Given the description of an element on the screen output the (x, y) to click on. 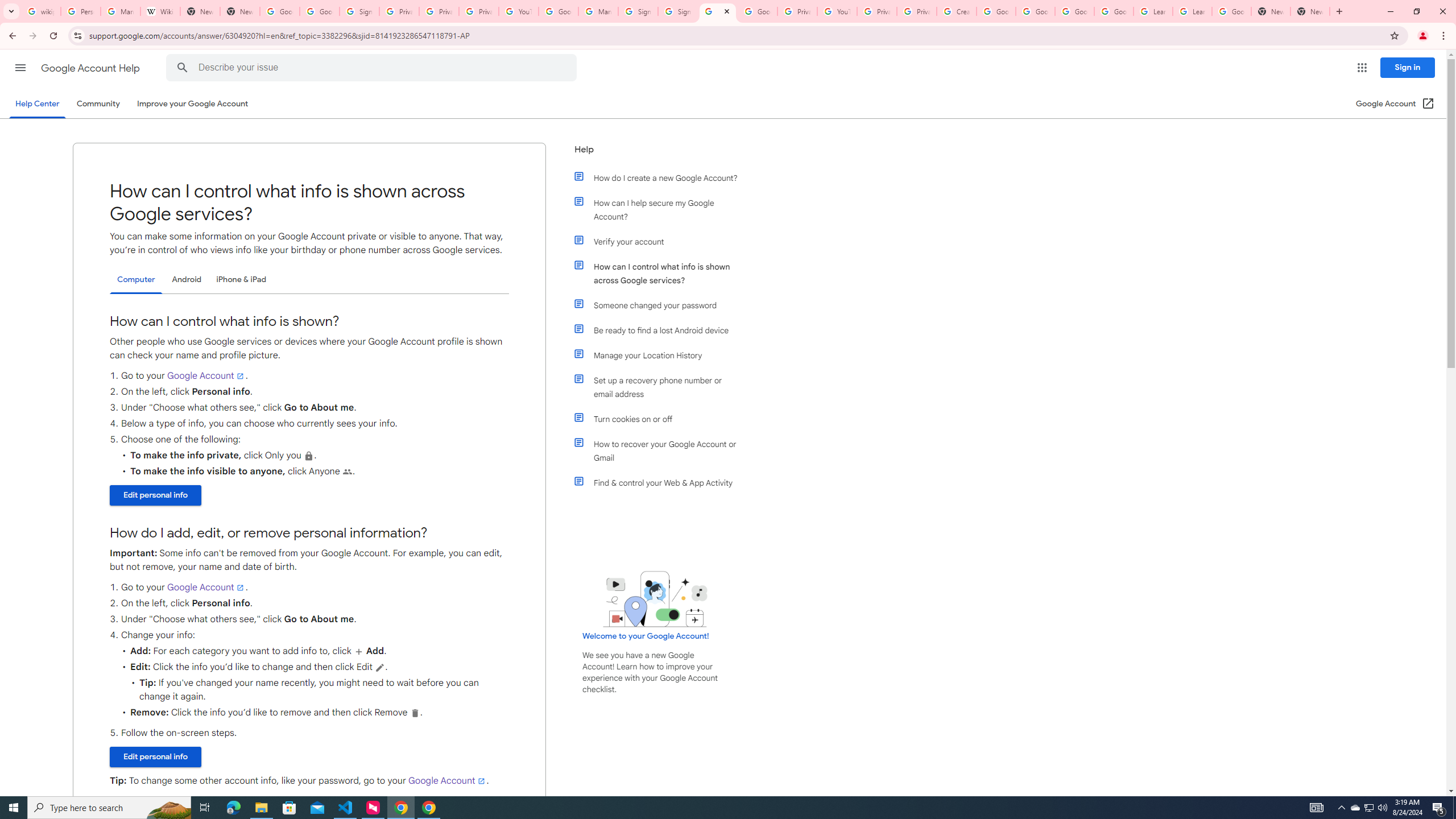
Google Account Help (1074, 11)
YouTube (836, 11)
Help Center (36, 103)
Someone changed your password (661, 305)
Google Account Help (1113, 11)
Google Drive: Sign-in (319, 11)
New Tab (1270, 11)
Sign in - Google Accounts (677, 11)
